Given the description of an element on the screen output the (x, y) to click on. 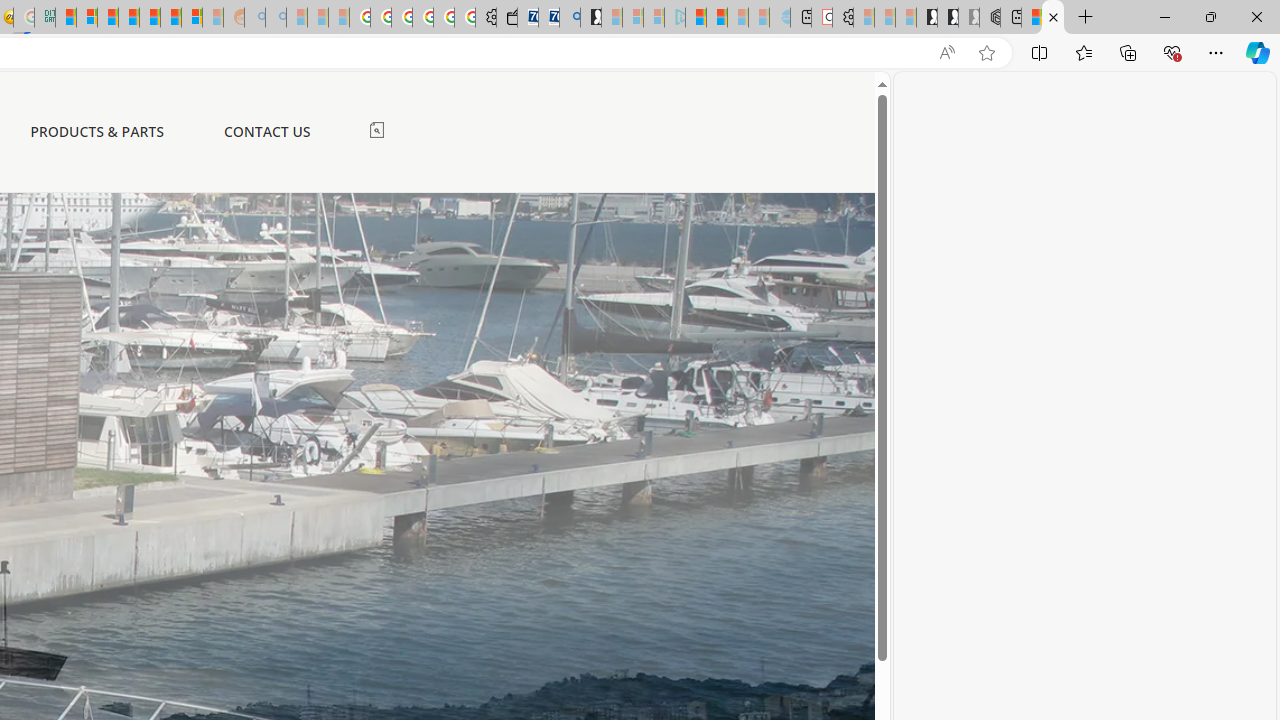
CONTACT US (266, 132)
Wallet (506, 17)
PRODUCTS & PARTS (97, 131)
